Given the description of an element on the screen output the (x, y) to click on. 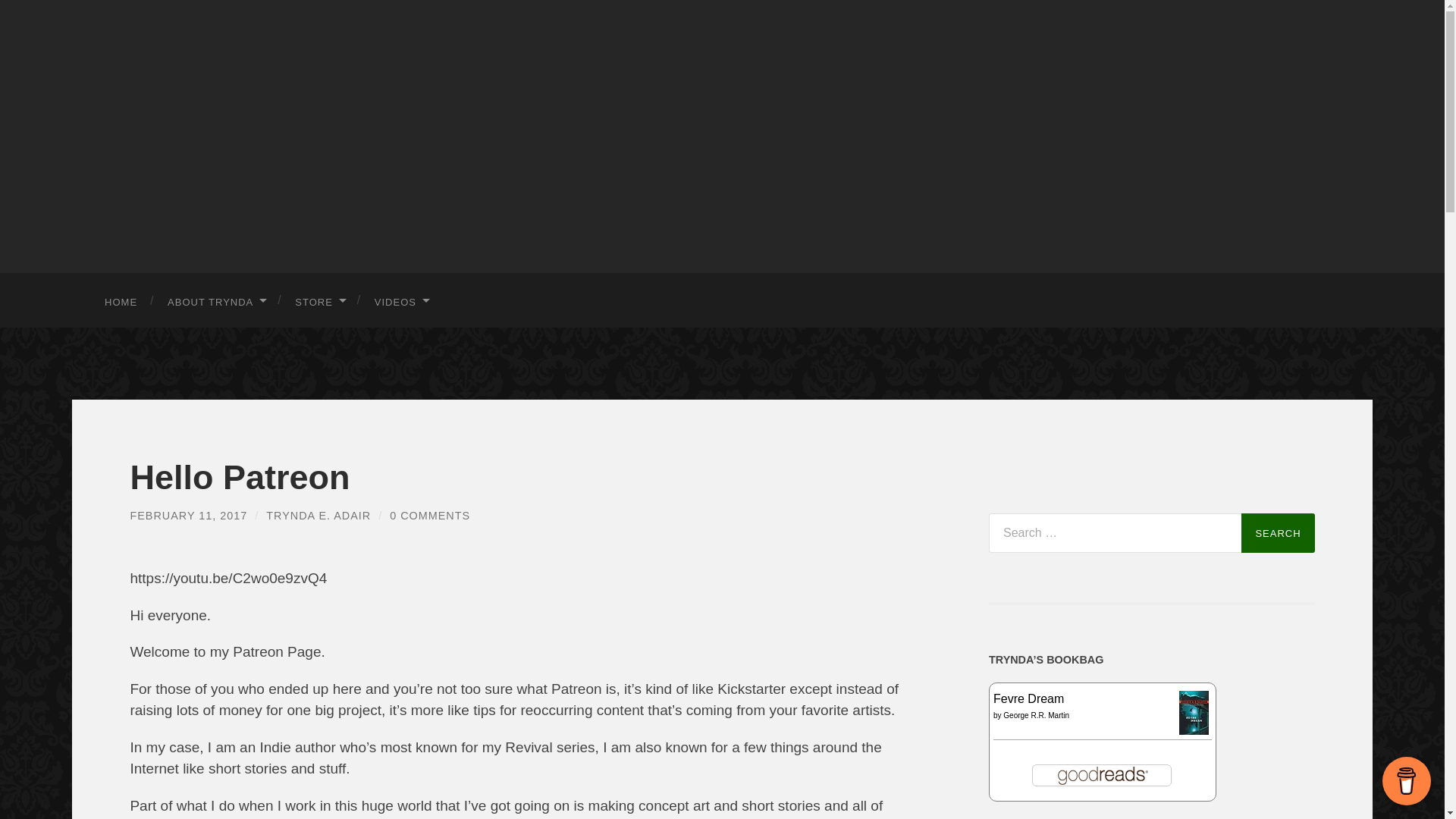
Fevre Dream Element type: hover (1193, 730)
TRYNDA E. ADAIR Element type: text (318, 515)
George R.R. Martin Element type: text (1036, 715)
Search Element type: text (1277, 532)
STORE Element type: text (319, 301)
VIDEOS Element type: text (400, 301)
0 COMMENTS Element type: text (429, 515)
FEBRUARY 11, 2017 Element type: text (188, 515)
Fevre Dream Element type: text (1028, 698)
ABOUT TRYNDA Element type: text (215, 301)
HOME Element type: text (120, 301)
